Given the description of an element on the screen output the (x, y) to click on. 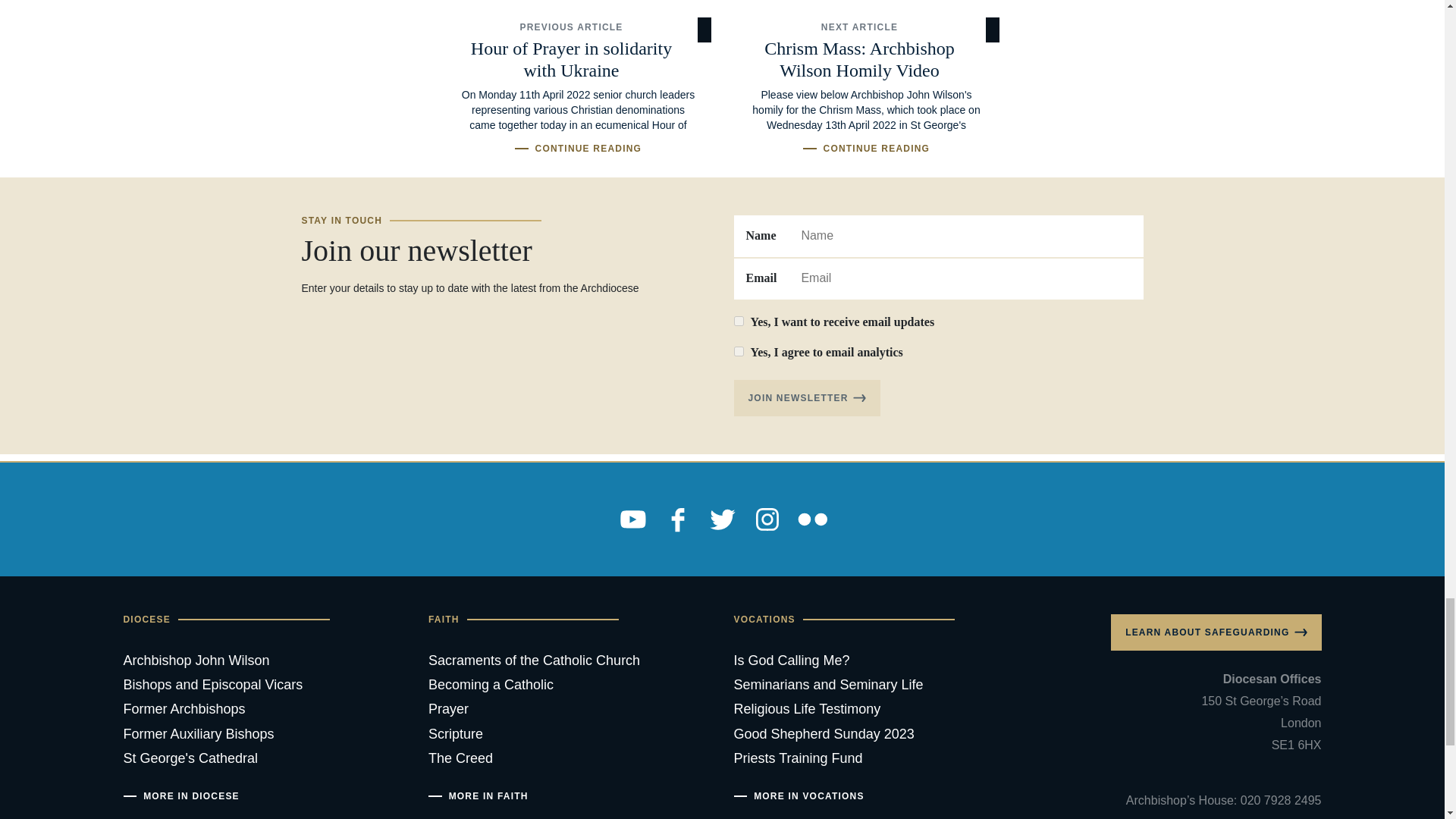
on (738, 351)
on (738, 320)
